Given the description of an element on the screen output the (x, y) to click on. 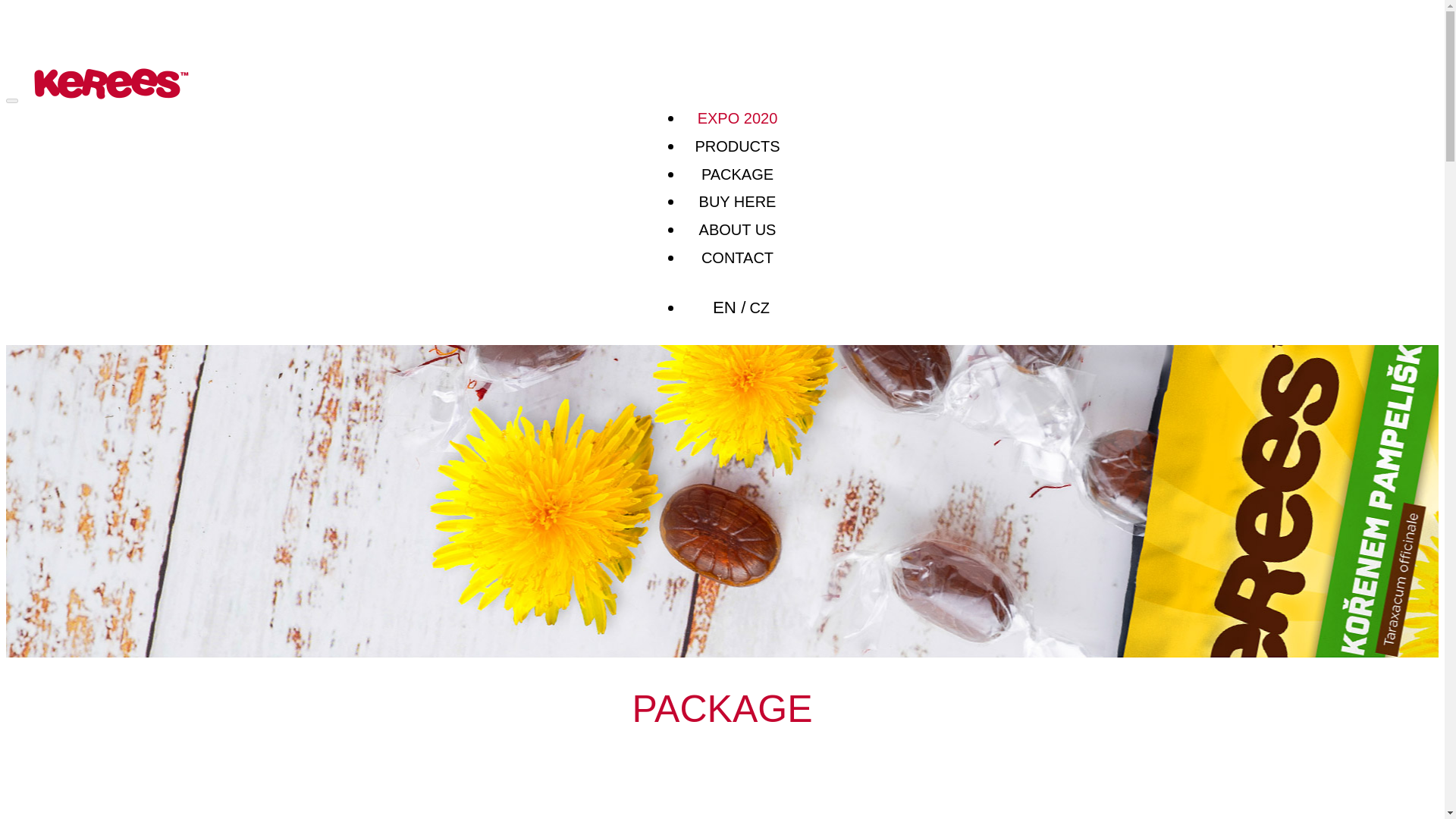
CONTACT (737, 257)
PRODUCTS (736, 146)
BUY HERE (737, 201)
PACKAGE (737, 174)
ABOUT US (737, 230)
EXPO 2020 (737, 117)
